Given the description of an element on the screen output the (x, y) to click on. 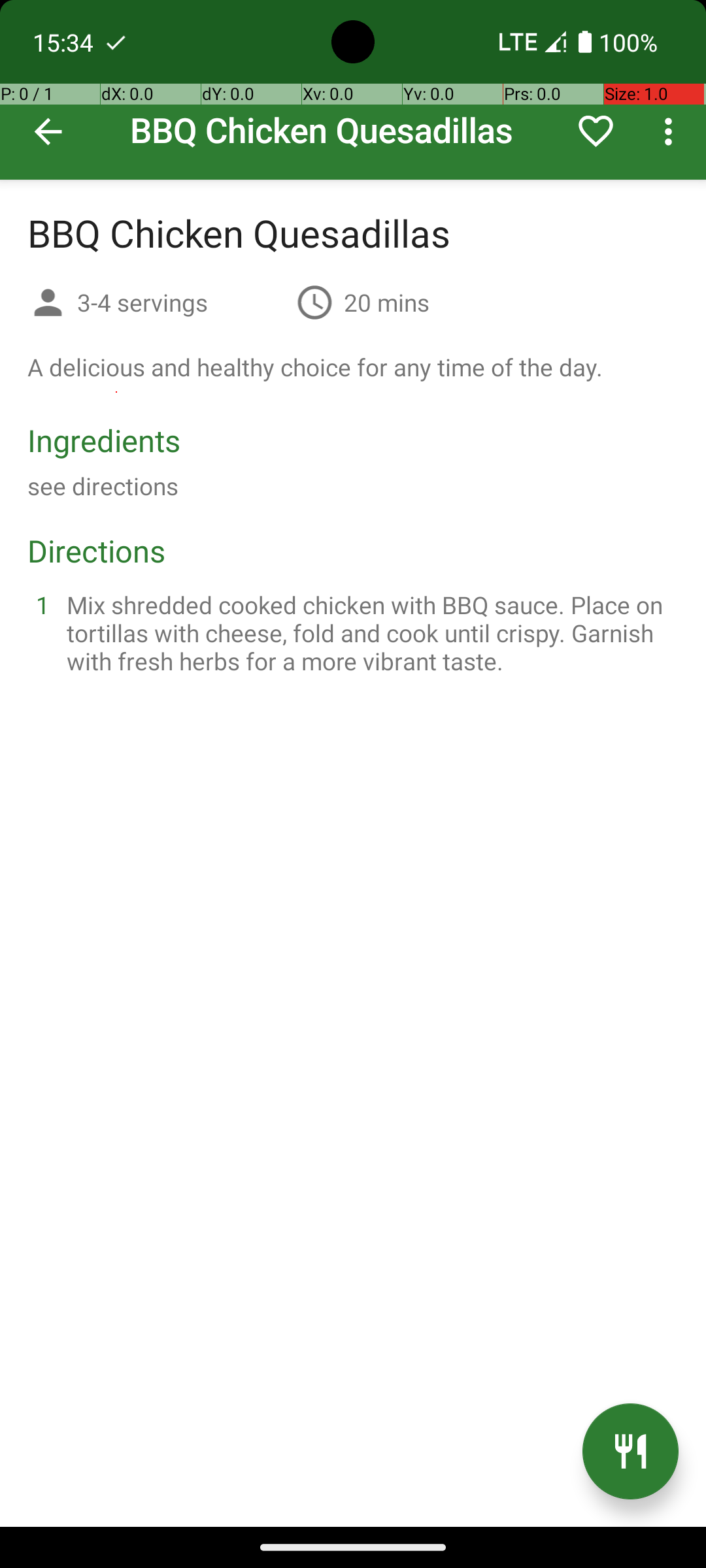
Mix shredded cooked chicken with BBQ sauce. Place on tortillas with cheese, fold and cook until crispy. Garnish with fresh herbs for a more vibrant taste. Element type: android.widget.TextView (368, 632)
